Given the description of an element on the screen output the (x, y) to click on. 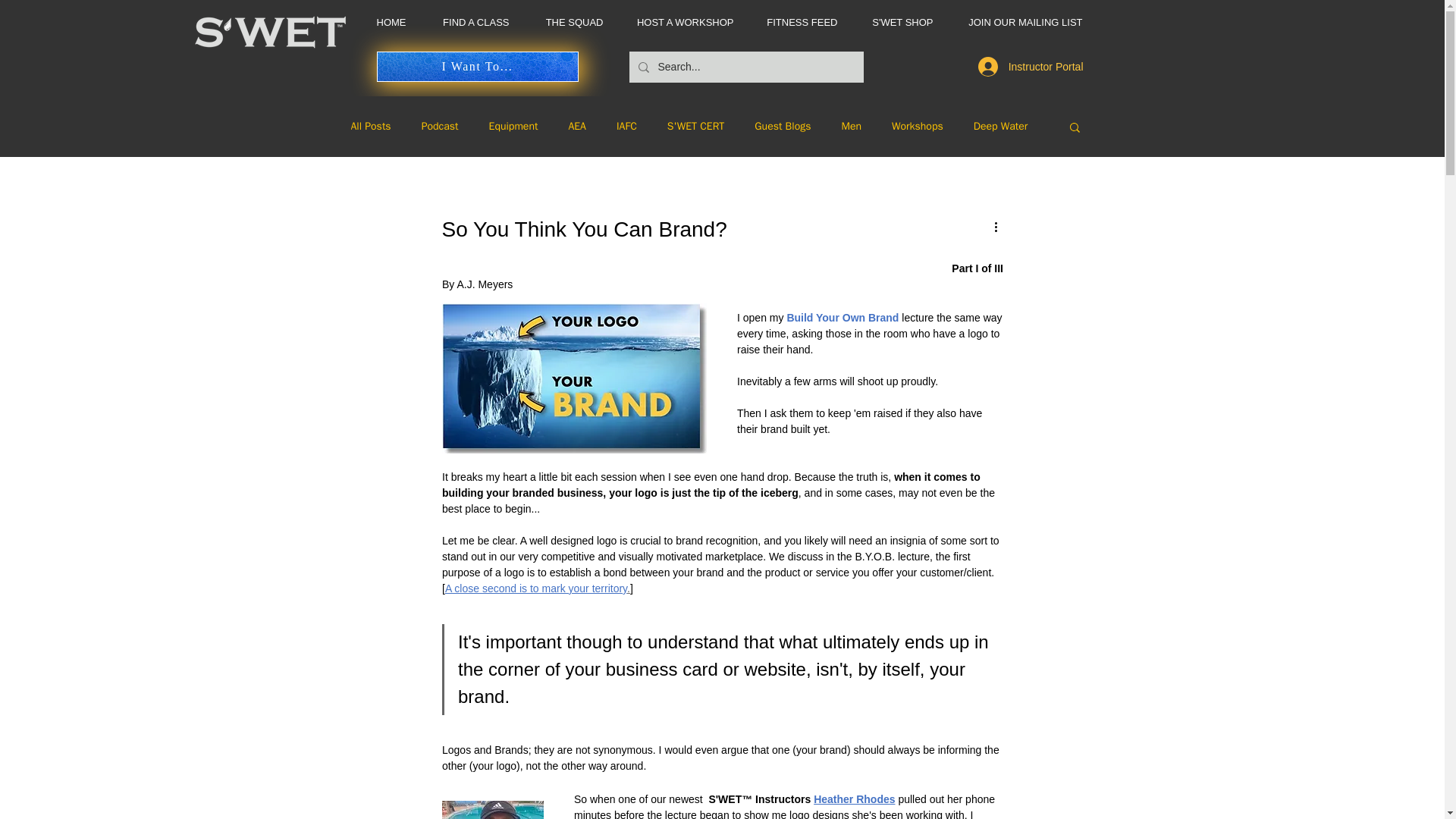
HOME (383, 22)
. (628, 588)
HOST A WORKSHOP (680, 22)
JOIN OUR MAILING LIST (1018, 22)
Equipment (513, 126)
FITNESS FEED (796, 22)
AEA (576, 126)
S'WET CERT (695, 126)
S'WET SHOP (895, 22)
IAFC (626, 126)
Heather Rhodes (854, 799)
Men (851, 126)
Podcast (440, 126)
Guest Blogs (782, 126)
All Posts (370, 126)
